Given the description of an element on the screen output the (x, y) to click on. 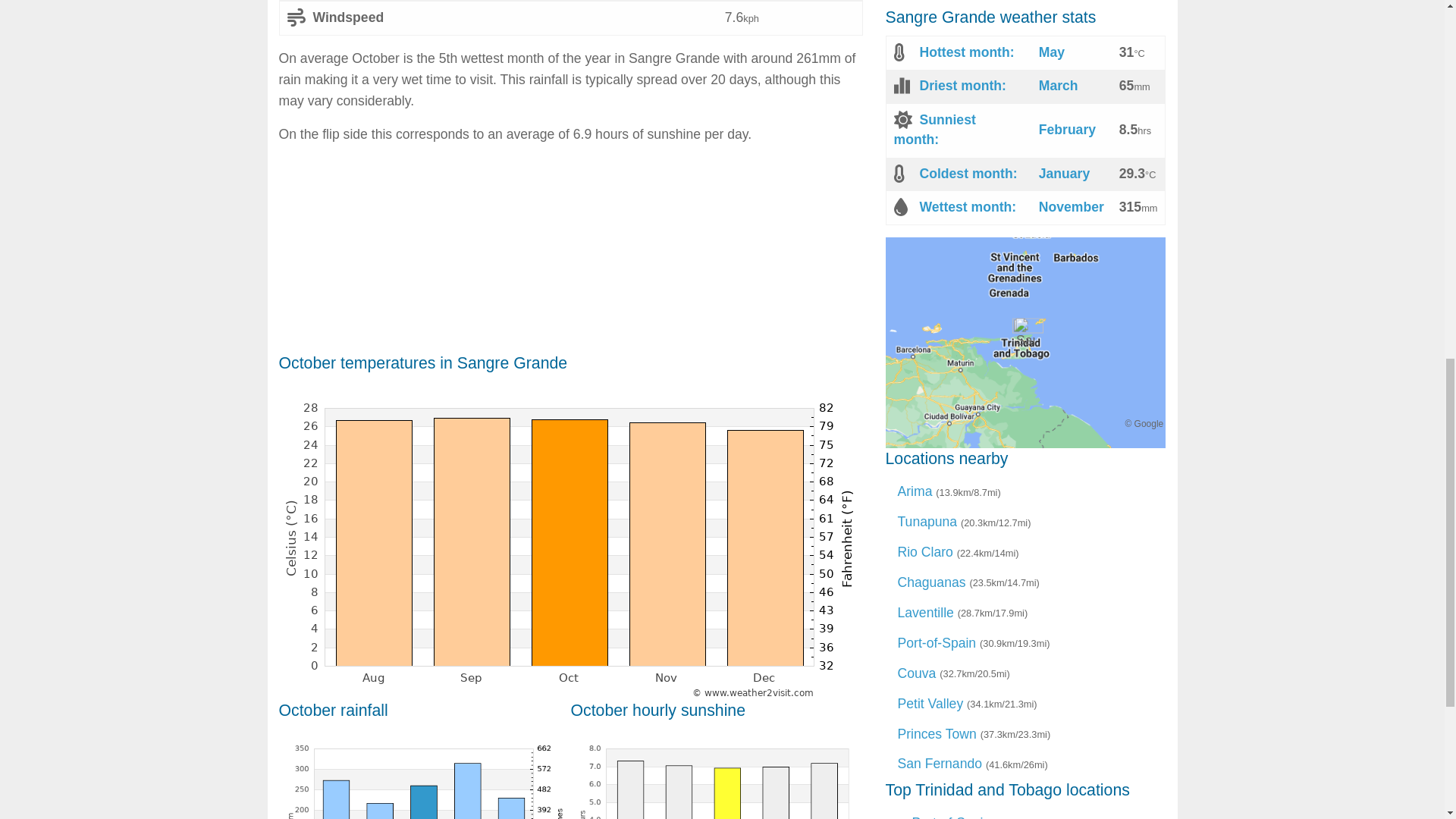
March (1058, 85)
Hottest month: (965, 52)
Sunniest month: (934, 129)
Coldest month: (967, 173)
February (1067, 129)
Driest month: (962, 85)
May (1051, 52)
